Given the description of an element on the screen output the (x, y) to click on. 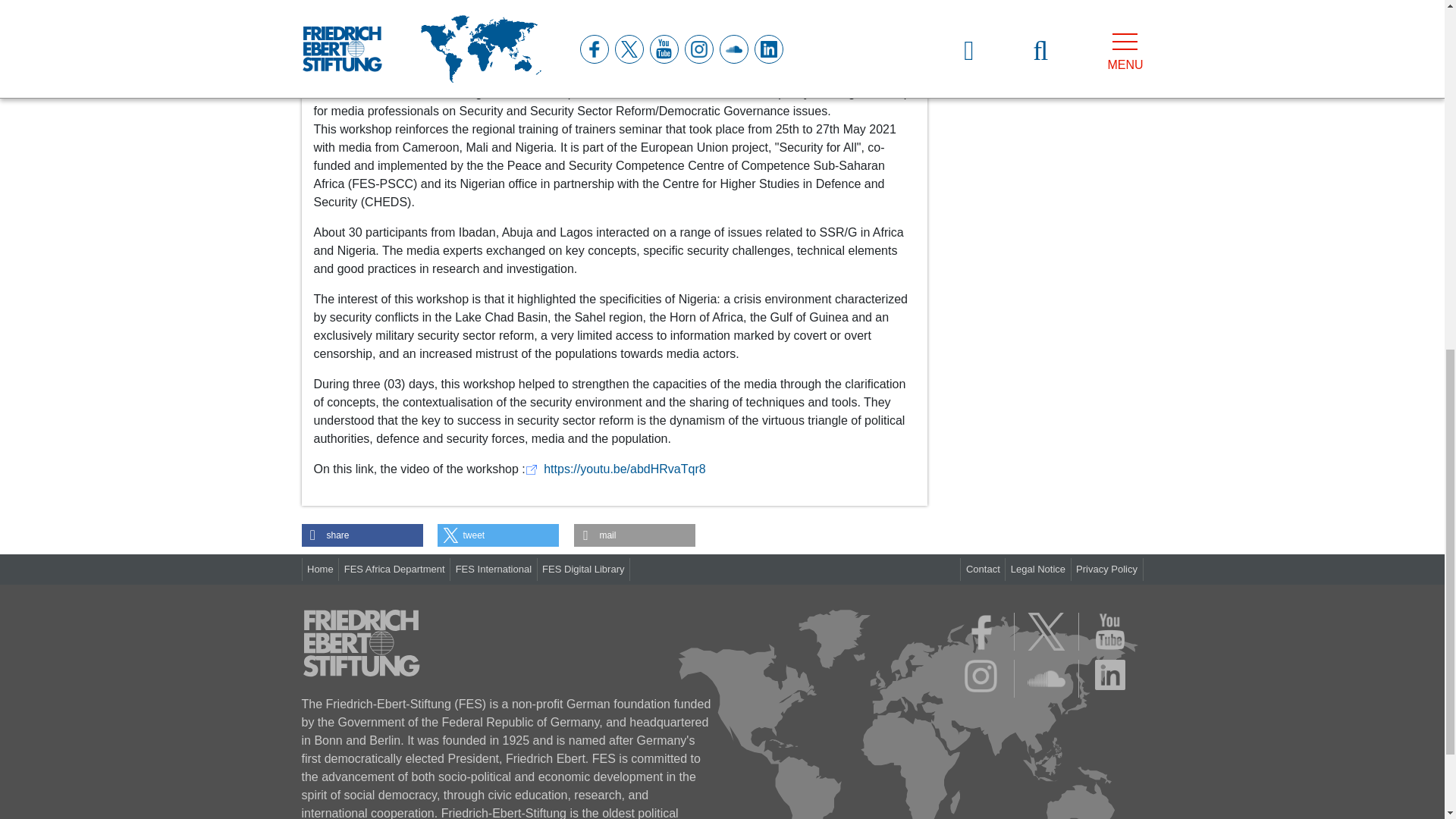
Share on Twitter (498, 535)
External Link (615, 468)
Video preview Nigeria (614, 36)
Privacy Policy of the Video (838, 62)
Send by email (634, 535)
Share on Facebook (362, 535)
